Given the description of an element on the screen output the (x, y) to click on. 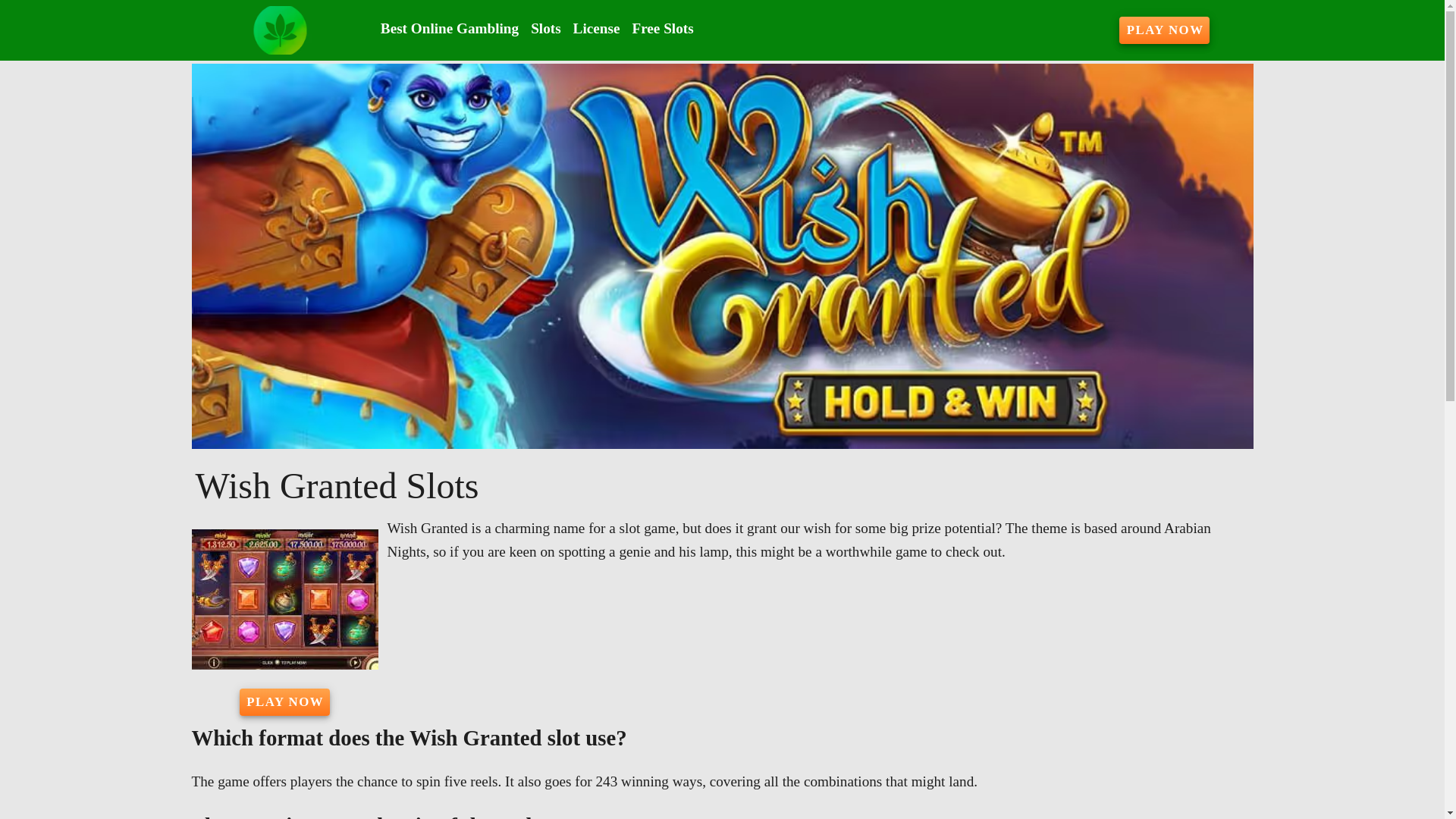
PLAY NOW (1164, 30)
License (596, 28)
PLAY NOW (285, 701)
Free Slots (662, 28)
Slots (545, 28)
Best Online Gambling (449, 28)
